Given the description of an element on the screen output the (x, y) to click on. 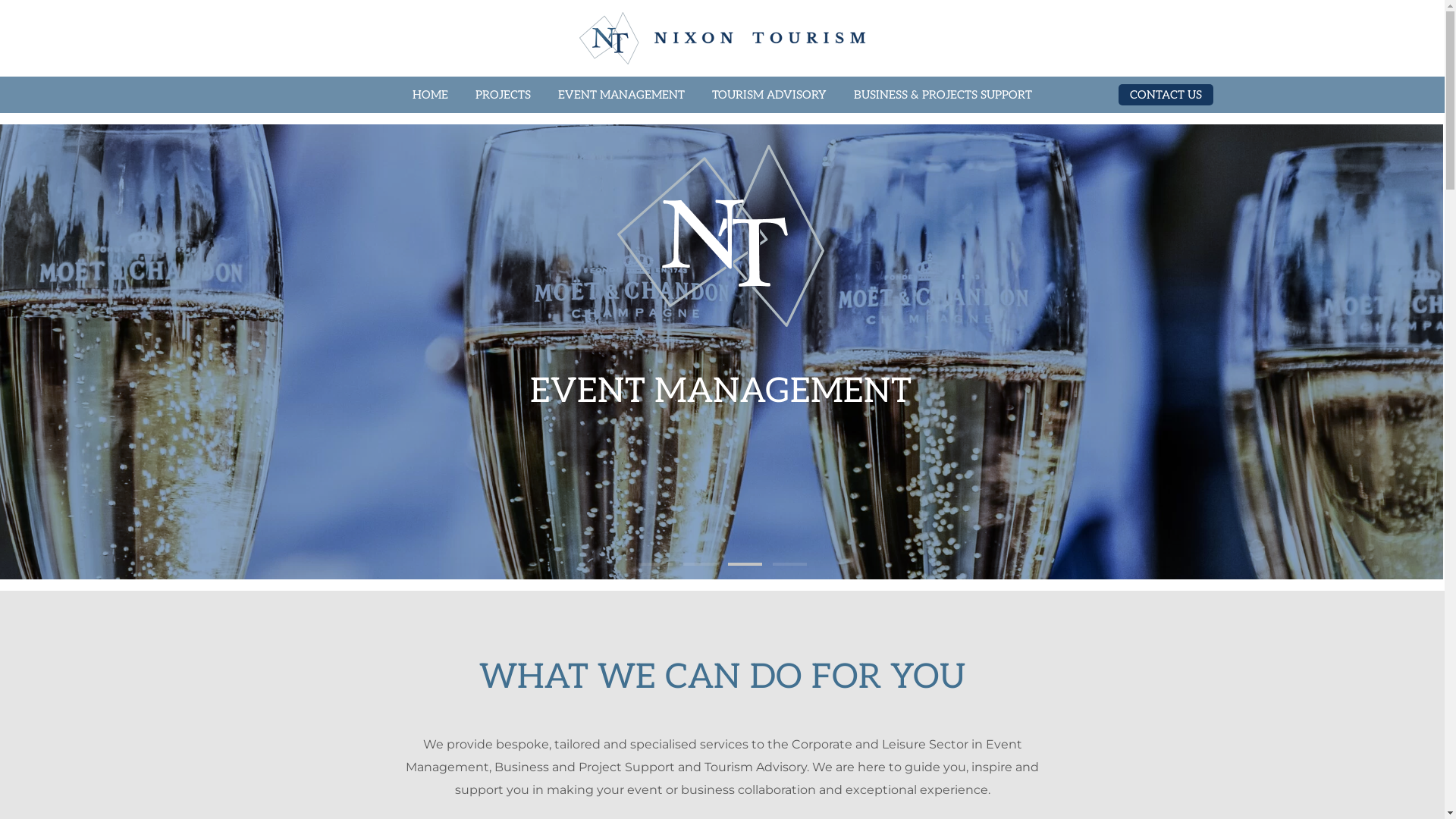
CONTACT US Element type: text (1164, 94)
TOURISM ADVISORY Element type: text (768, 94)
PROJECTS Element type: text (503, 94)
EVENT MANAGEMENT Element type: text (621, 94)
HOME Element type: text (430, 94)
Nixon Tourism logo Element type: hover (1339, 235)
BUSINESS & PROJECTS SUPPORT Element type: text (942, 94)
